Given the description of an element on the screen output the (x, y) to click on. 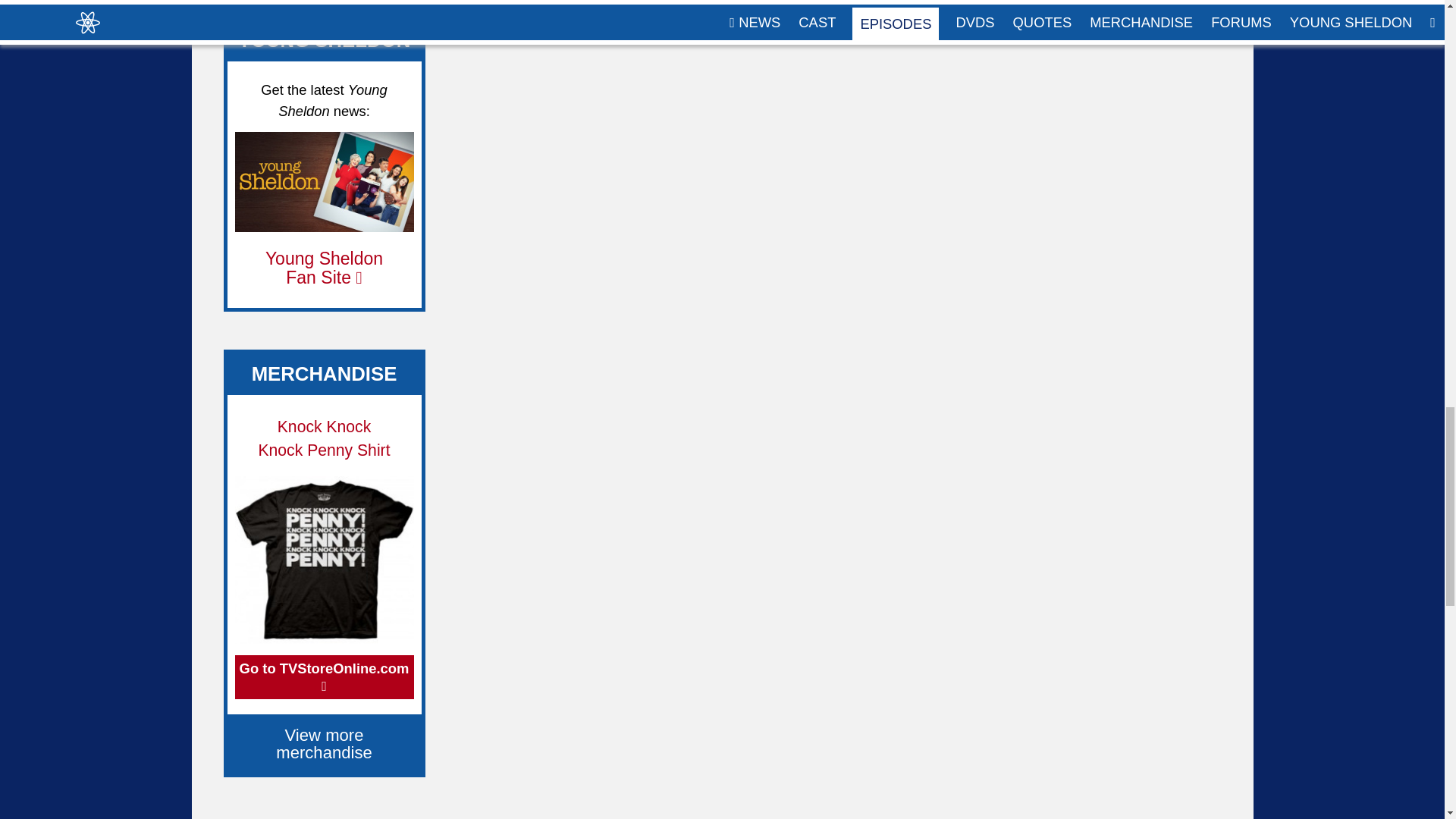
Knock Knock Knock Penny Shirt (323, 438)
Young Sheldon Fan Site  (323, 267)
View more merchandise (324, 743)
Go to TVStoreOnline.com (323, 677)
